Given the description of an element on the screen output the (x, y) to click on. 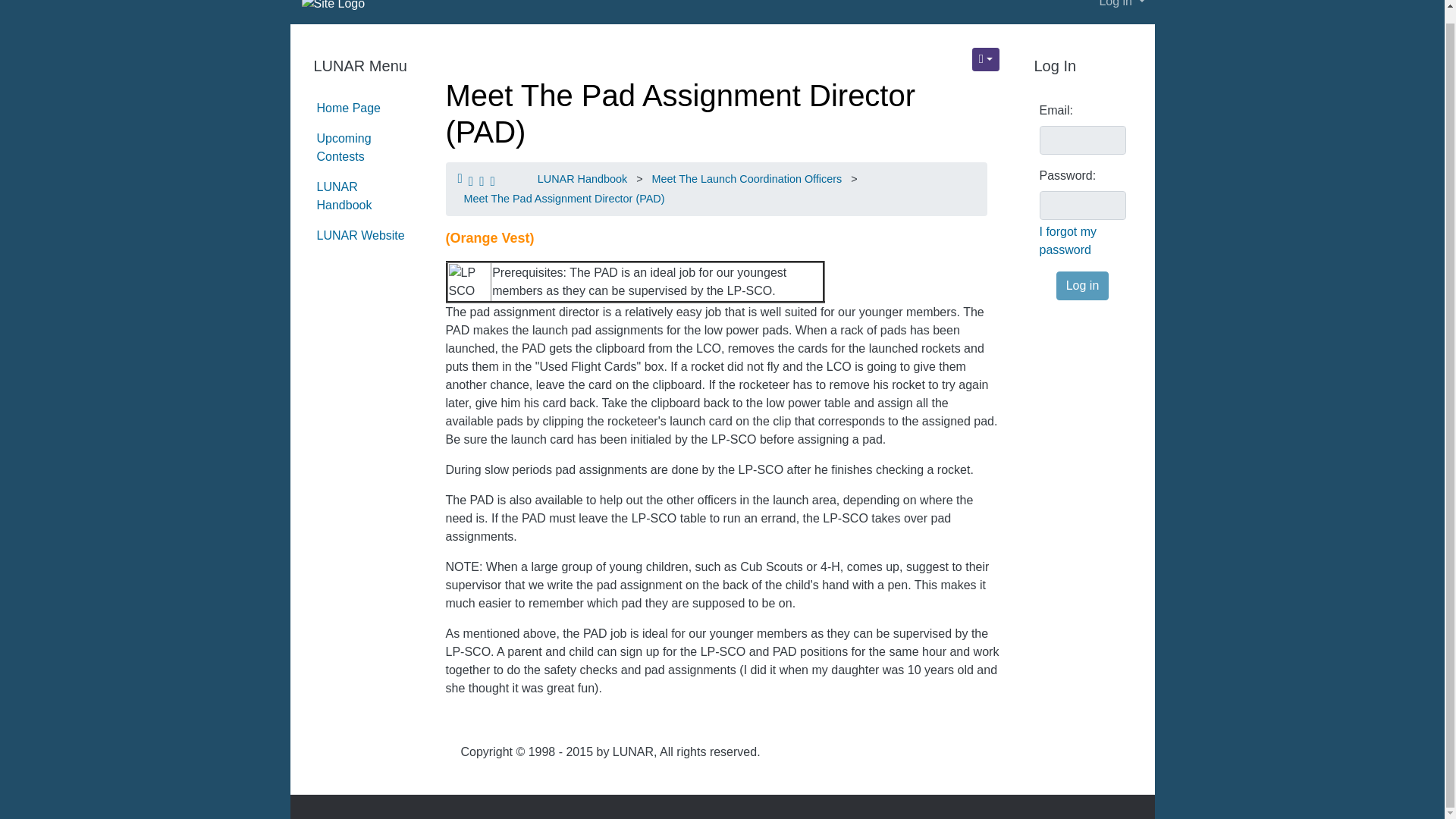
Meet The Launch Coordination Officers (747, 178)
Log in (1121, 7)
Upcoming Contests (344, 146)
LUNAR Handbook (582, 178)
LUNAR Handbook (344, 195)
refresh (680, 113)
LUNAR Website (360, 235)
I forgot my password (1082, 240)
Structures (985, 59)
LUNAR Wiki Home (349, 107)
Upcoming Contests Summary (344, 146)
Log in (1083, 285)
Click here if you've forgotten your password (1082, 240)
LUNARHandbook (344, 195)
Tikiwiki powered site (327, 5)
